Given the description of an element on the screen output the (x, y) to click on. 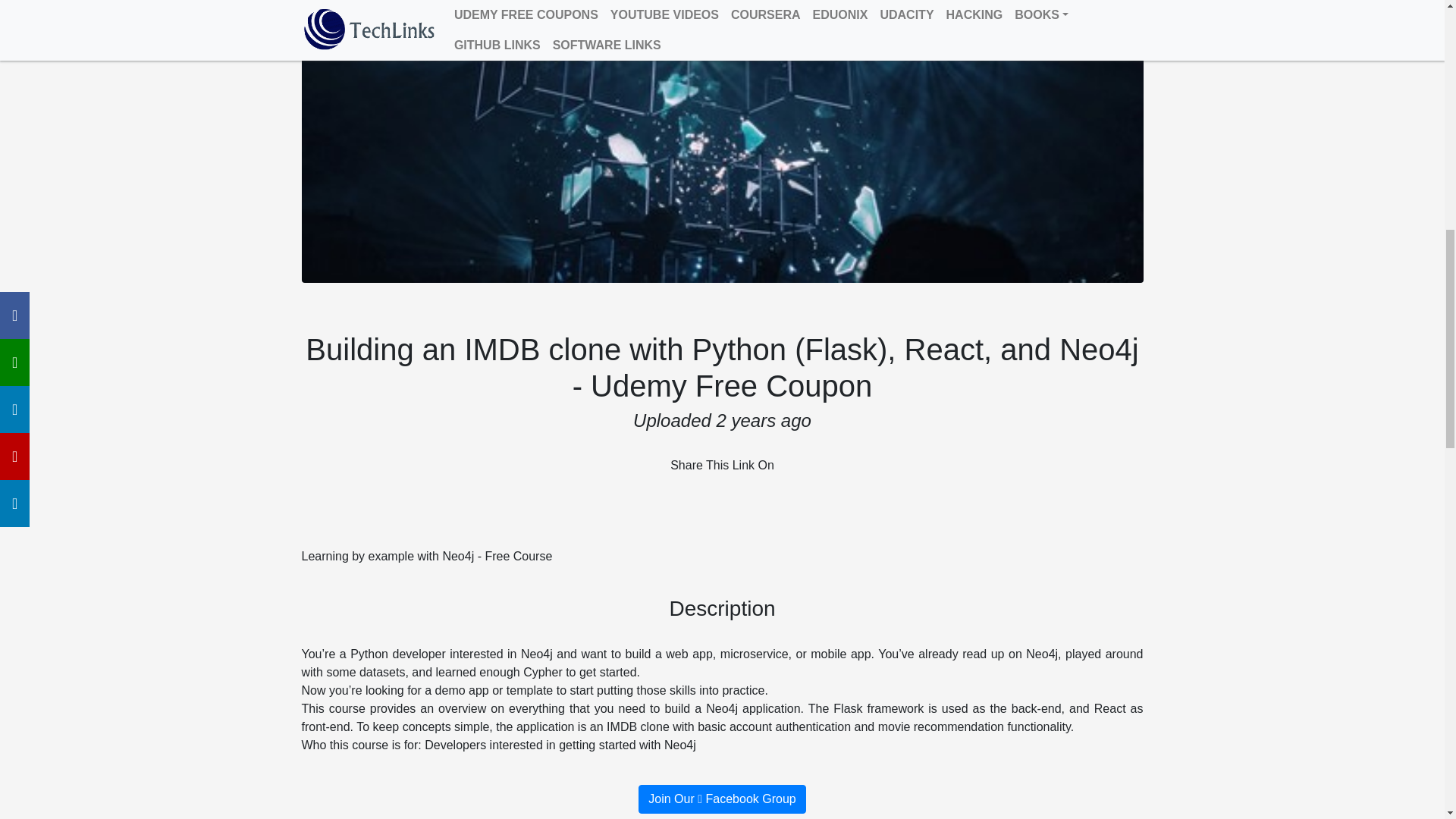
Join Our Facebook Group (722, 799)
